Given the description of an element on the screen output the (x, y) to click on. 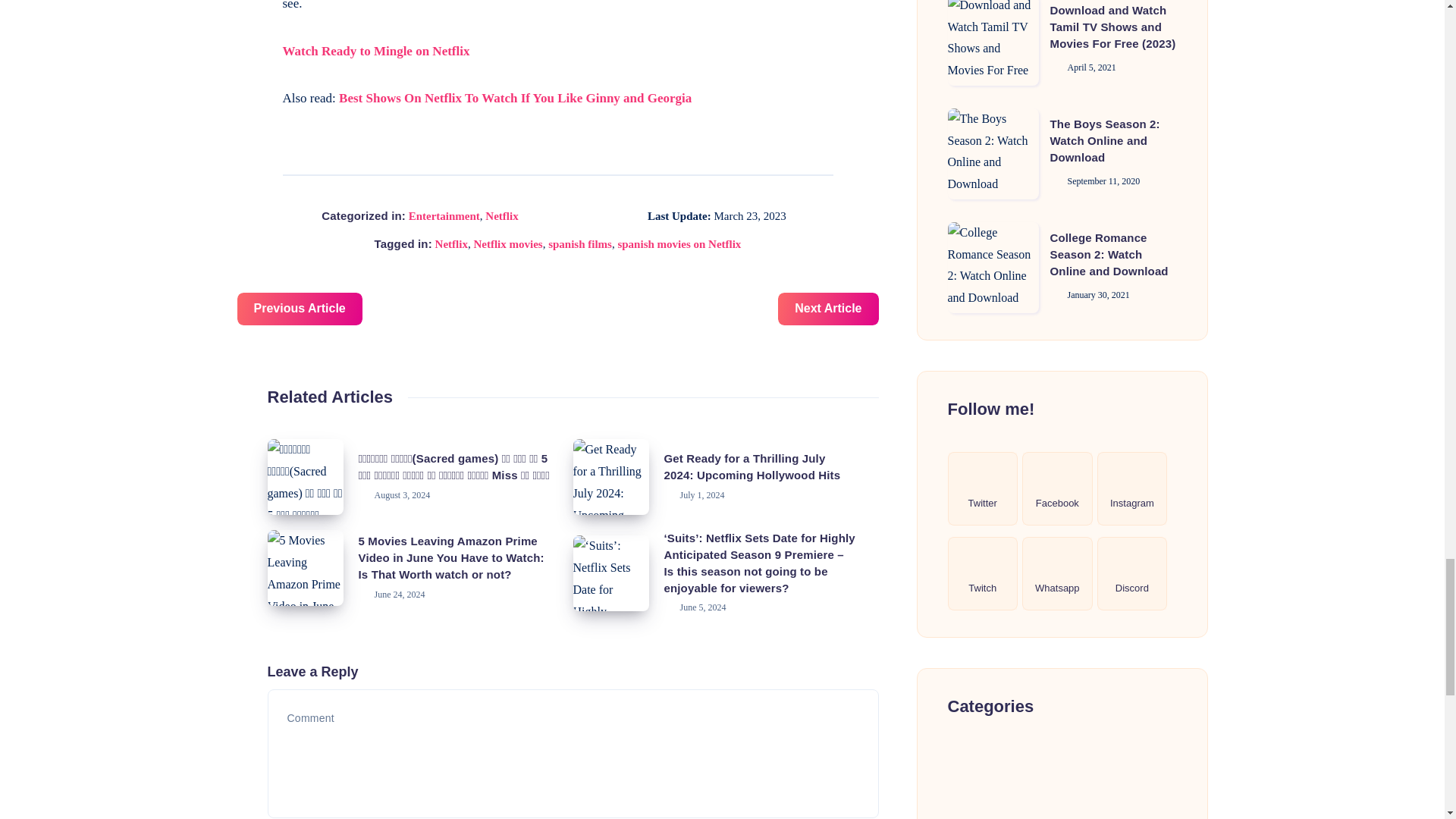
Watch Ready to Mingle on Netflix (375, 51)
Entertainment (444, 215)
Best Shows On Netflix To Watch If You Like Ginny and Georgia (515, 97)
